Given the description of an element on the screen output the (x, y) to click on. 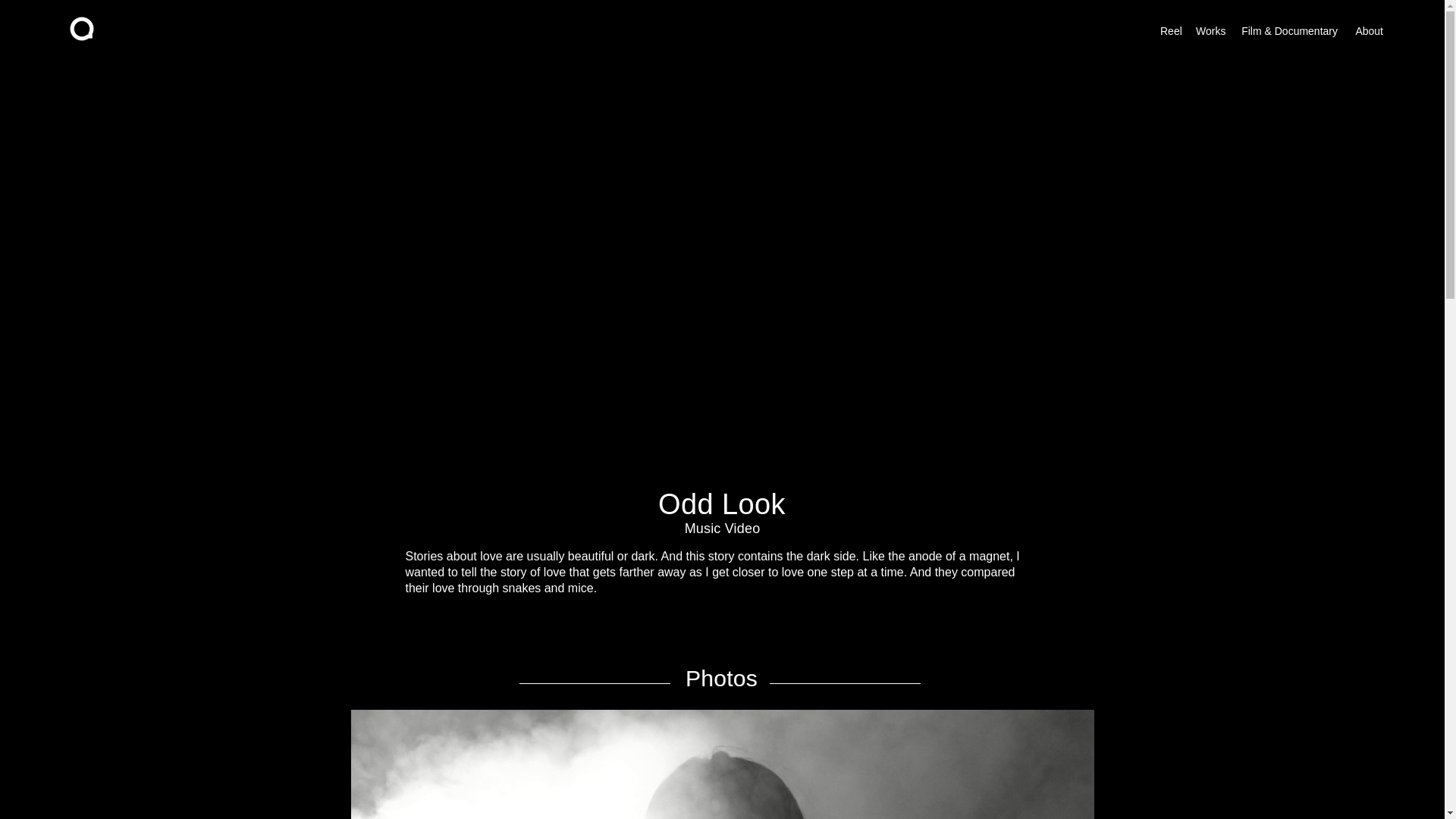
About (1367, 30)
Reel (1170, 30)
Works (1210, 30)
